Given the description of an element on the screen output the (x, y) to click on. 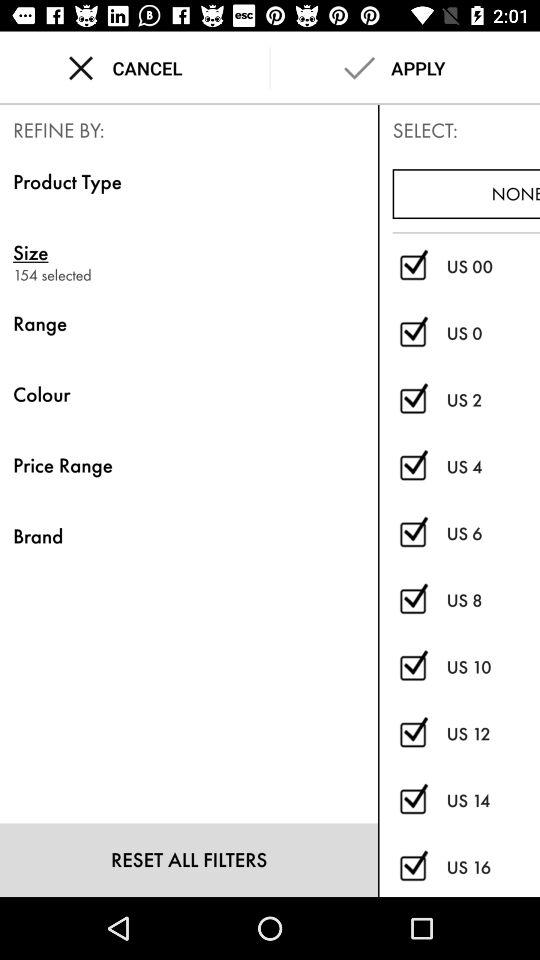
zero dollar check box (412, 266)
